Given the description of an element on the screen output the (x, y) to click on. 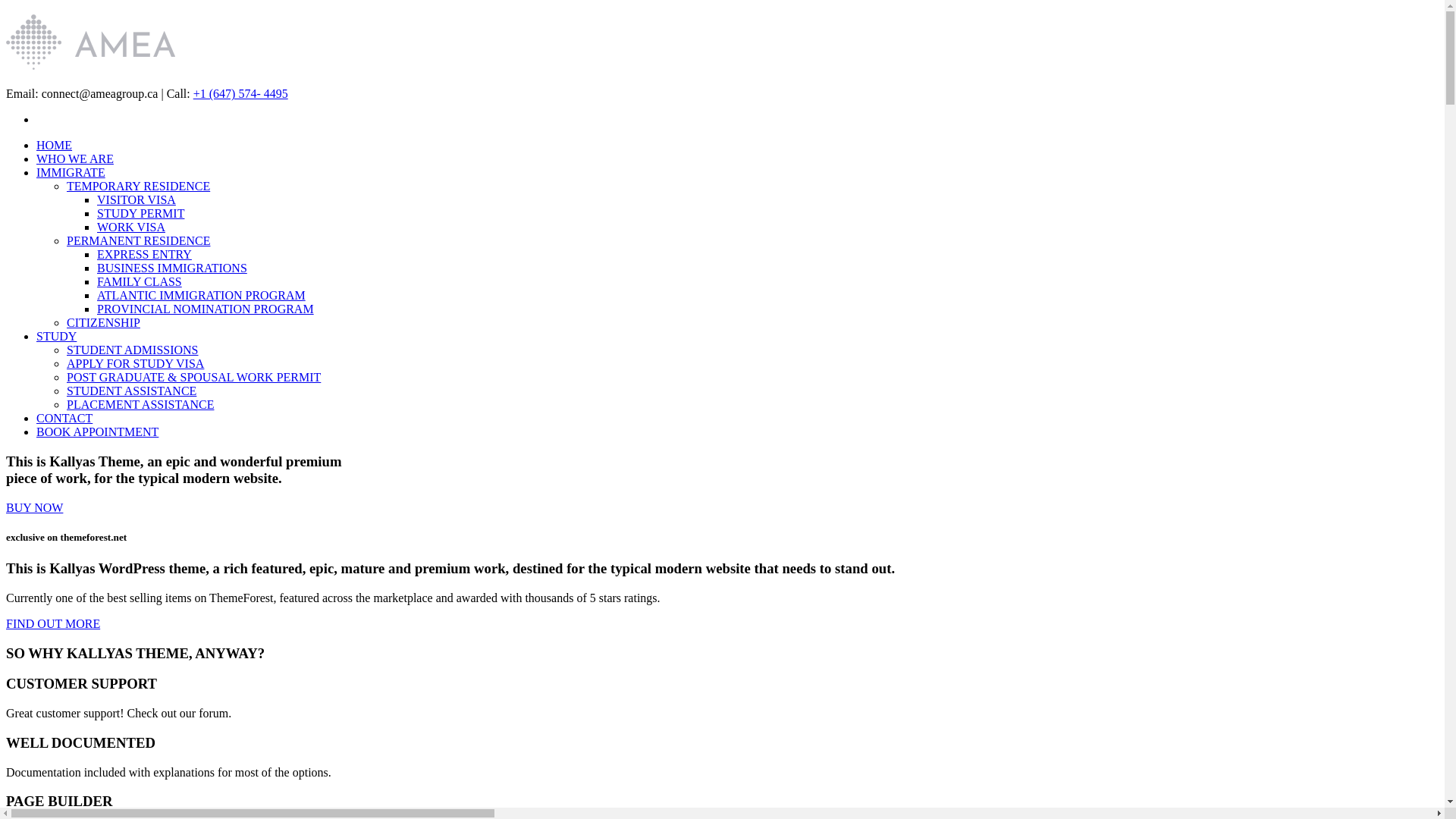
WORK VISA Element type: text (131, 226)
FIND OUT MORE Element type: text (722, 623)
APPLY FOR STUDY VISA Element type: text (134, 363)
STUDENT ASSISTANCE Element type: text (131, 390)
BUY NOW Element type: text (34, 507)
STUDENT ADMISSIONS Element type: text (132, 349)
TEMPORARY RESIDENCE Element type: text (138, 185)
IMMIGRATE Element type: text (70, 172)
POST GRADUATE & SPOUSAL WORK PERMIT Element type: text (193, 376)
FAMILY CLASS Element type: text (139, 281)
BOOK APPOINTMENT Element type: text (97, 431)
PERMANENT RESIDENCE Element type: text (138, 240)
EXPRESS ENTRY Element type: text (144, 253)
ATLANTIC IMMIGRATION PROGRAM Element type: text (201, 294)
HOME Element type: text (54, 144)
WHO WE ARE Element type: text (74, 158)
BUSINESS IMMIGRATIONS Element type: text (172, 267)
STUDY Element type: text (56, 335)
+1 (647) 574- 4495 Element type: text (240, 93)
PROVINCIAL NOMINATION PROGRAM Element type: text (205, 308)
CONTACT Element type: text (64, 417)
VISITOR VISA Element type: text (136, 199)
CITIZENSHIP Element type: text (103, 322)
STUDY PERMIT Element type: text (140, 213)
PLACEMENT ASSISTANCE Element type: text (139, 404)
